Given the description of an element on the screen output the (x, y) to click on. 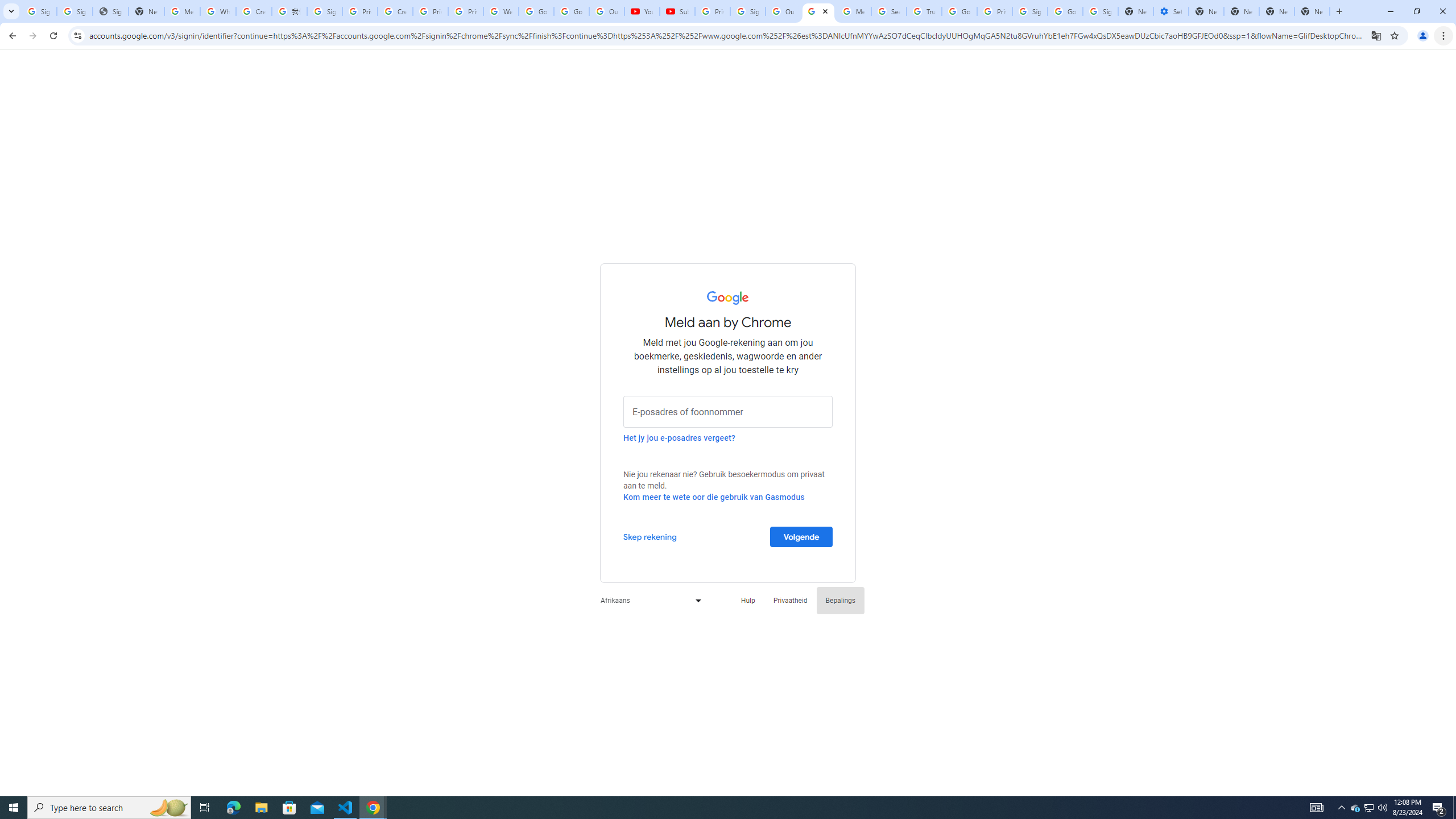
Privaatheid (790, 600)
Settings - Performance (1170, 11)
YouTube (641, 11)
E-posadres of foonnommer (727, 411)
Afrikaans (647, 600)
Sign in - Google Accounts (1029, 11)
